Given the description of an element on the screen output the (x, y) to click on. 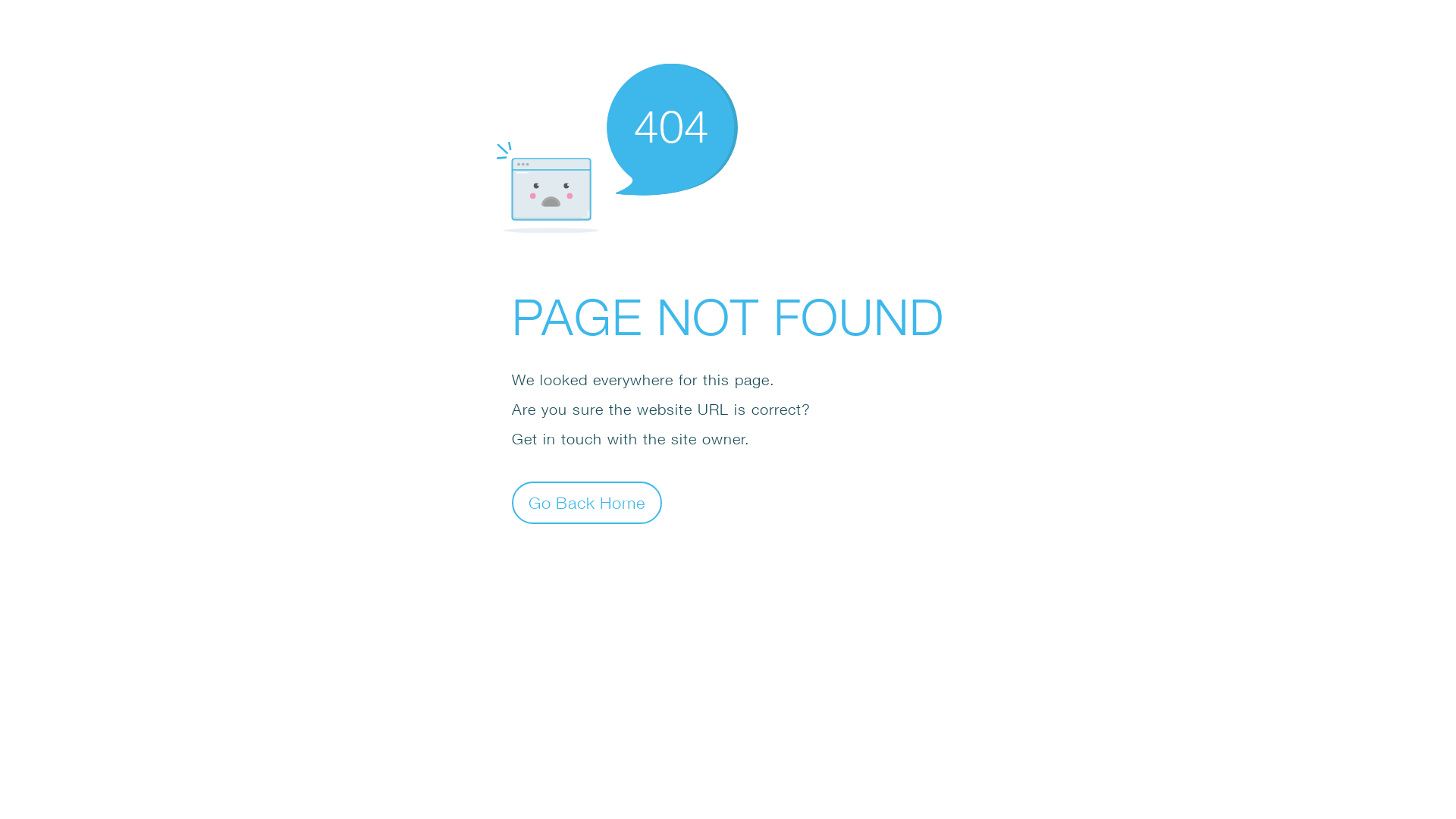
Go Back Home Element type: text (586, 502)
